Given the description of an element on the screen output the (x, y) to click on. 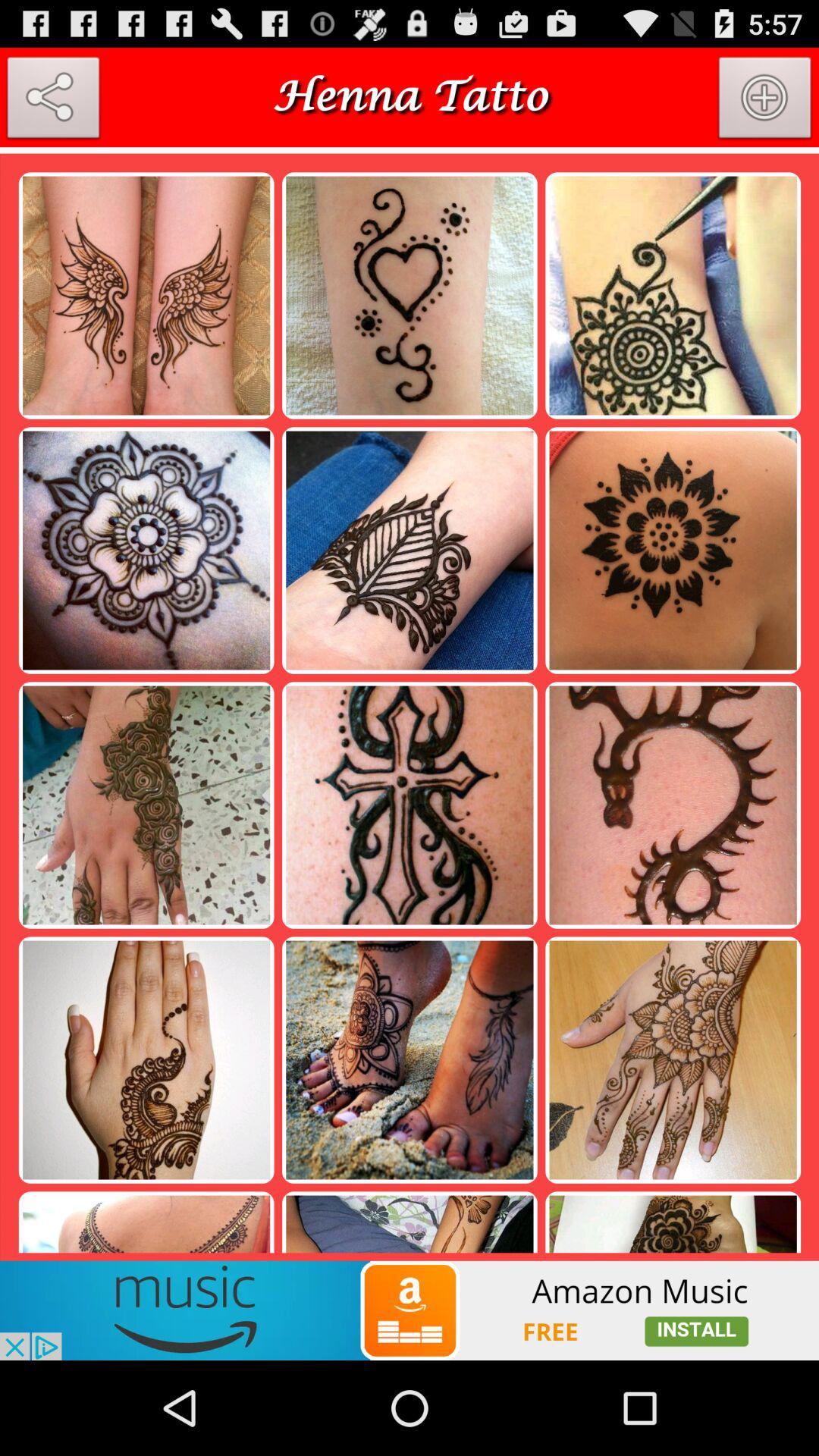
add amazon music (409, 1310)
